Given the description of an element on the screen output the (x, y) to click on. 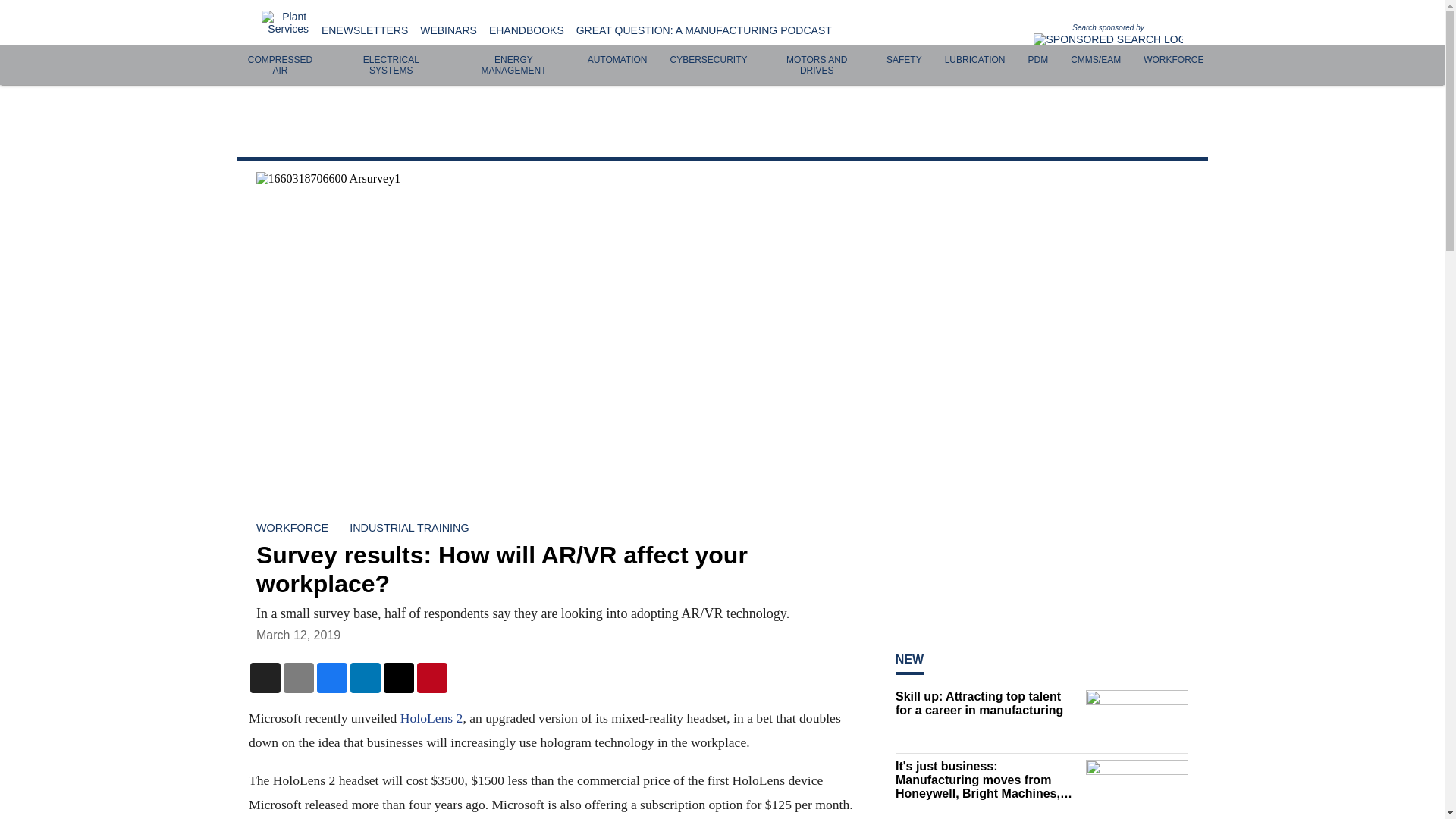
ELECTRICAL SYSTEMS (390, 65)
WORKFORCE (1173, 59)
MOTORS AND DRIVES (816, 65)
INDUSTRIAL TRAINING (408, 527)
AUTOMATION (617, 59)
WORKFORCE (292, 527)
WEBINARS (448, 30)
EHANDBOOKS (526, 30)
GREAT QUESTION: A MANUFACTURING PODCAST (703, 30)
ENERGY MANAGEMENT (513, 65)
HoloLens 2 (430, 717)
CYBERSECURITY (708, 59)
COMPRESSED AIR (280, 65)
PDM (1037, 59)
